Given the description of an element on the screen output the (x, y) to click on. 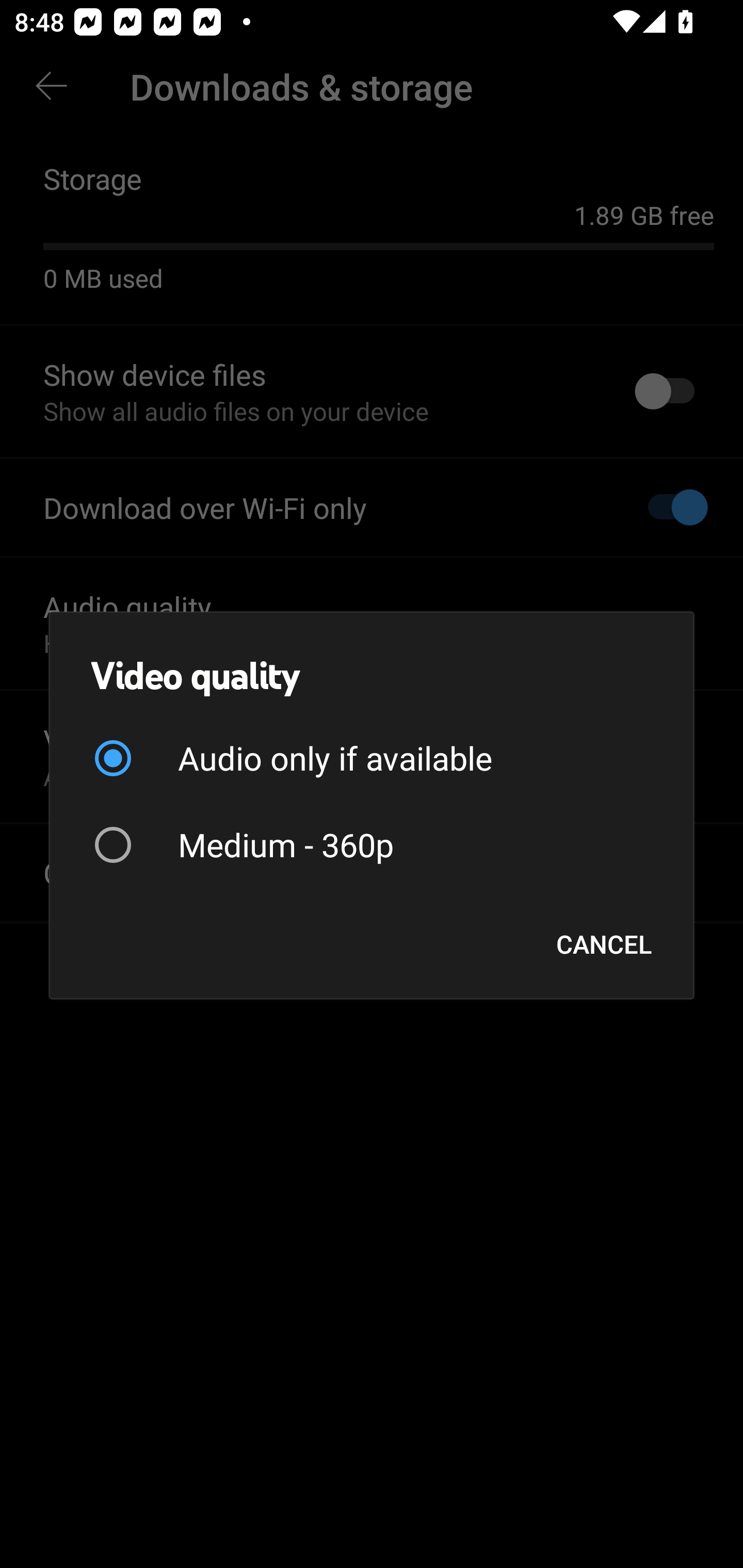
Audio only if available (371, 758)
Medium - 360p (371, 844)
CANCEL (603, 943)
